Given the description of an element on the screen output the (x, y) to click on. 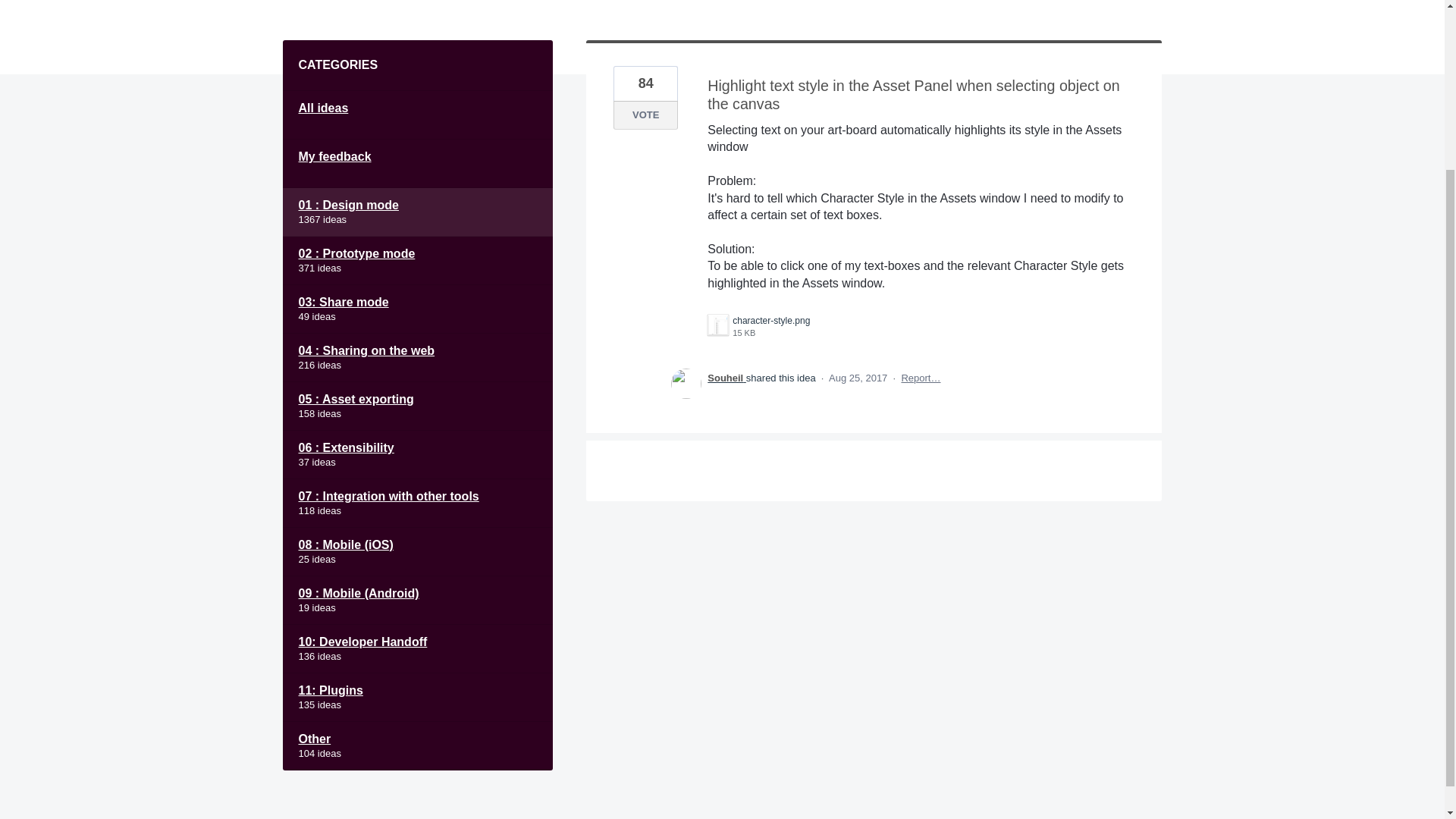
View all ideas in category 05 : Asset exporting (417, 406)
View all ideas in category 02 : Prototype mode (417, 260)
View all ideas in category 06 : Extensibility (417, 454)
Souheil (726, 378)
View all ideas in category 11: Plugins (417, 697)
05 : Asset exporting (417, 406)
10: Developer Handoff (417, 648)
07 : Integration with other tools (417, 503)
View all ideas in category 10: Developer Handoff (417, 648)
11: Plugins (417, 697)
